Given the description of an element on the screen output the (x, y) to click on. 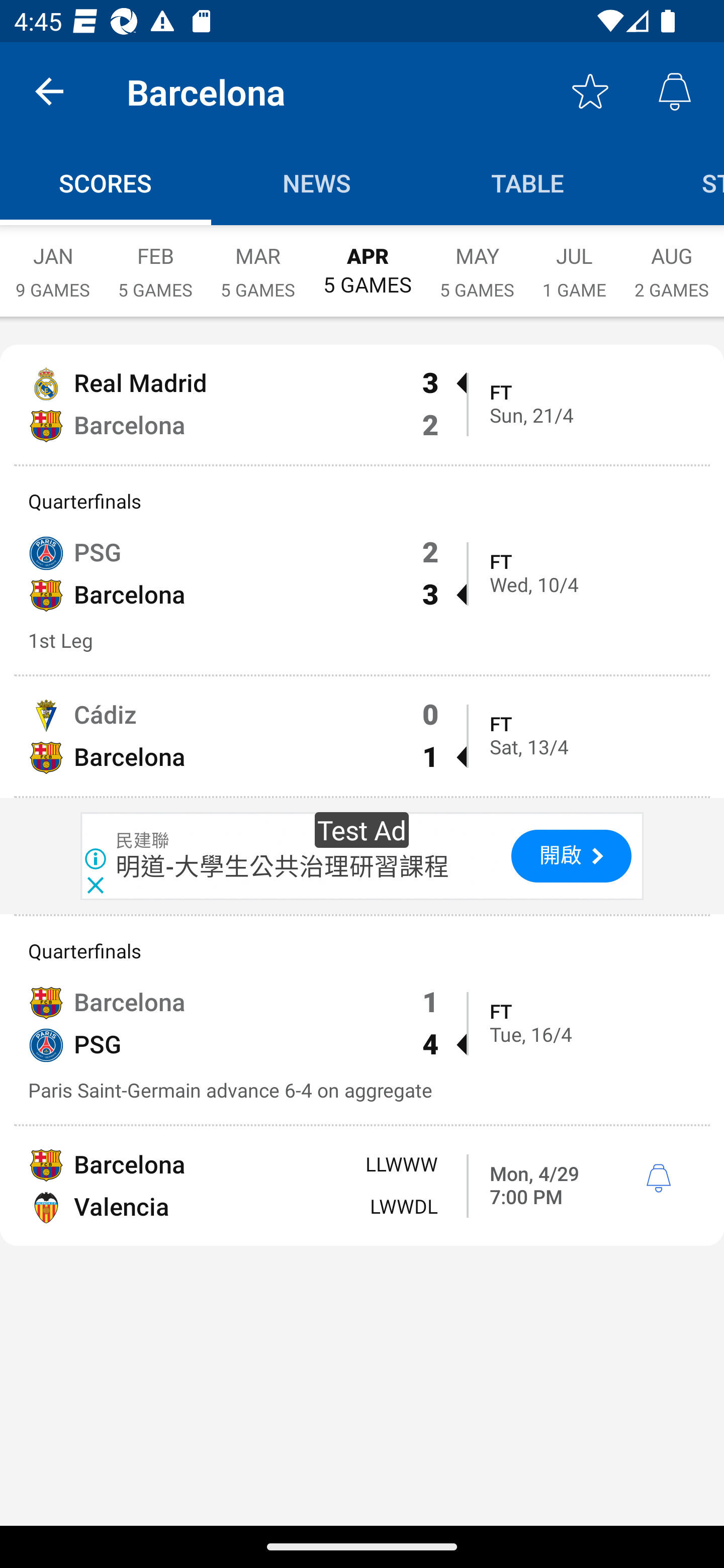
back.button (49, 90)
Favorite toggle (590, 90)
Alerts (674, 90)
News NEWS (316, 183)
Table TABLE (527, 183)
JAN 9 GAMES (52, 262)
FEB 5 GAMES (155, 262)
MAR 5 GAMES (257, 262)
APR 5 GAMES (367, 261)
MAY 5 GAMES (476, 262)
JUL 1 GAME (574, 262)
AUG 2 GAMES (671, 262)
Real Madrid 3  Barcelona 2 FT Sun, 21/4 (362, 404)
Cádiz 0 Barcelona 1  FT Sat, 13/4 (362, 735)
民建聯 (142, 840)
開啟 (570, 855)
明道-大學生公共治理研習課程 (282, 866)
